Given the description of an element on the screen output the (x, y) to click on. 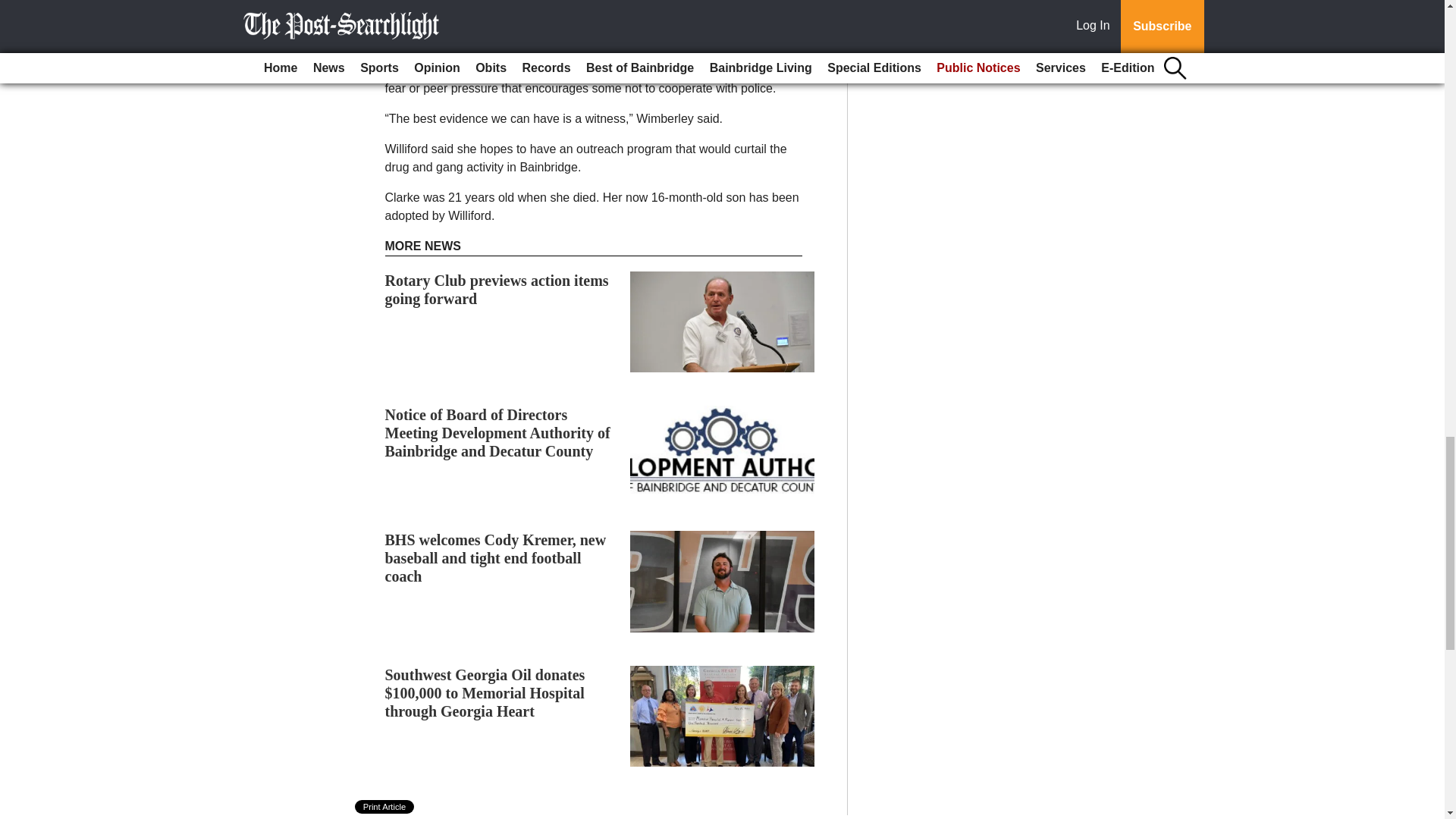
Rotary Club previews action items going forward (496, 289)
Rotary Club previews action items going forward (496, 289)
